Given the description of an element on the screen output the (x, y) to click on. 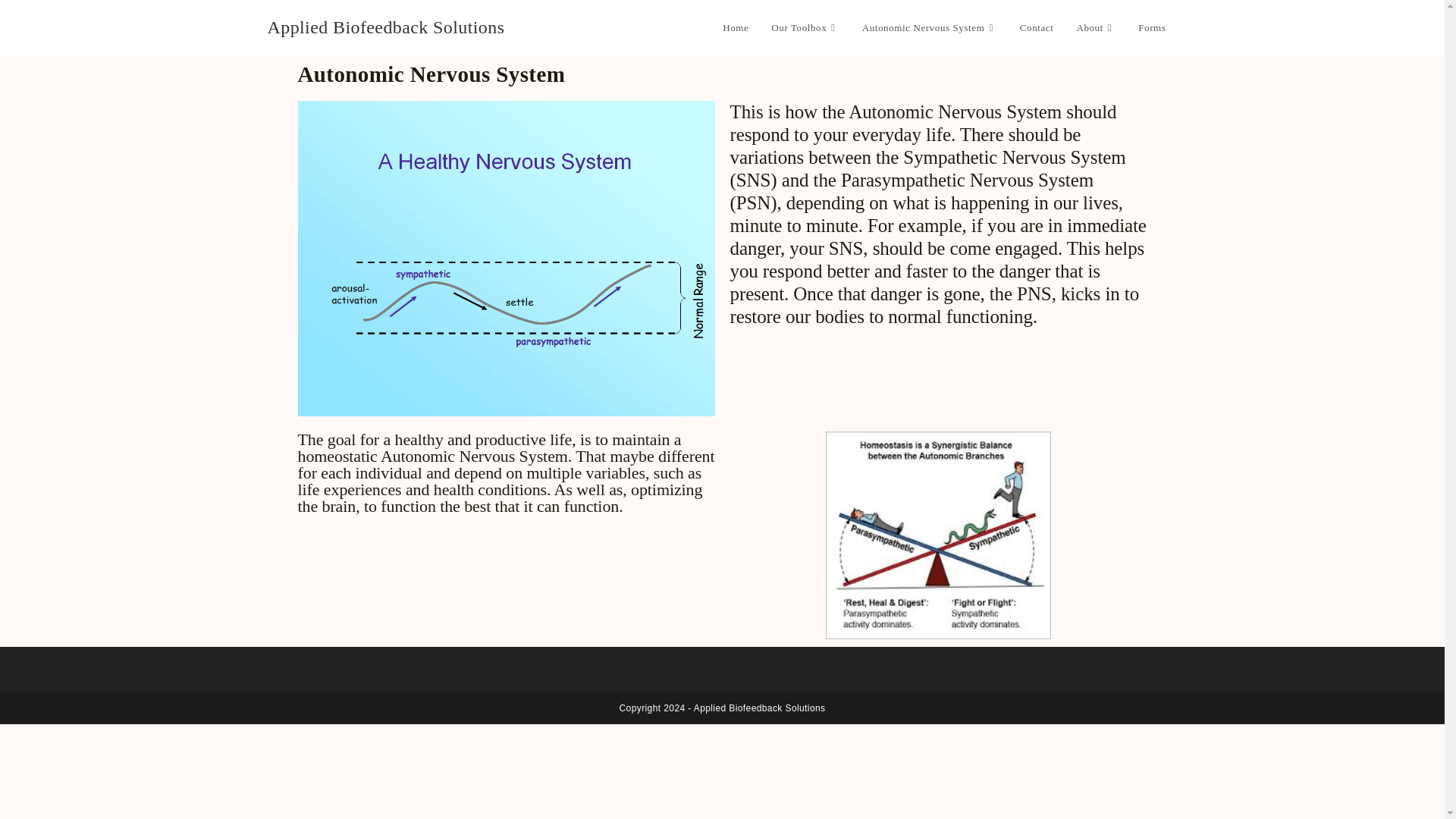
Contact (1037, 28)
Forms (1151, 28)
About (1095, 28)
Applied Biofeedback Solutions (384, 26)
Our Toolbox (805, 28)
Autonomic Nervous System (929, 28)
